Given the description of an element on the screen output the (x, y) to click on. 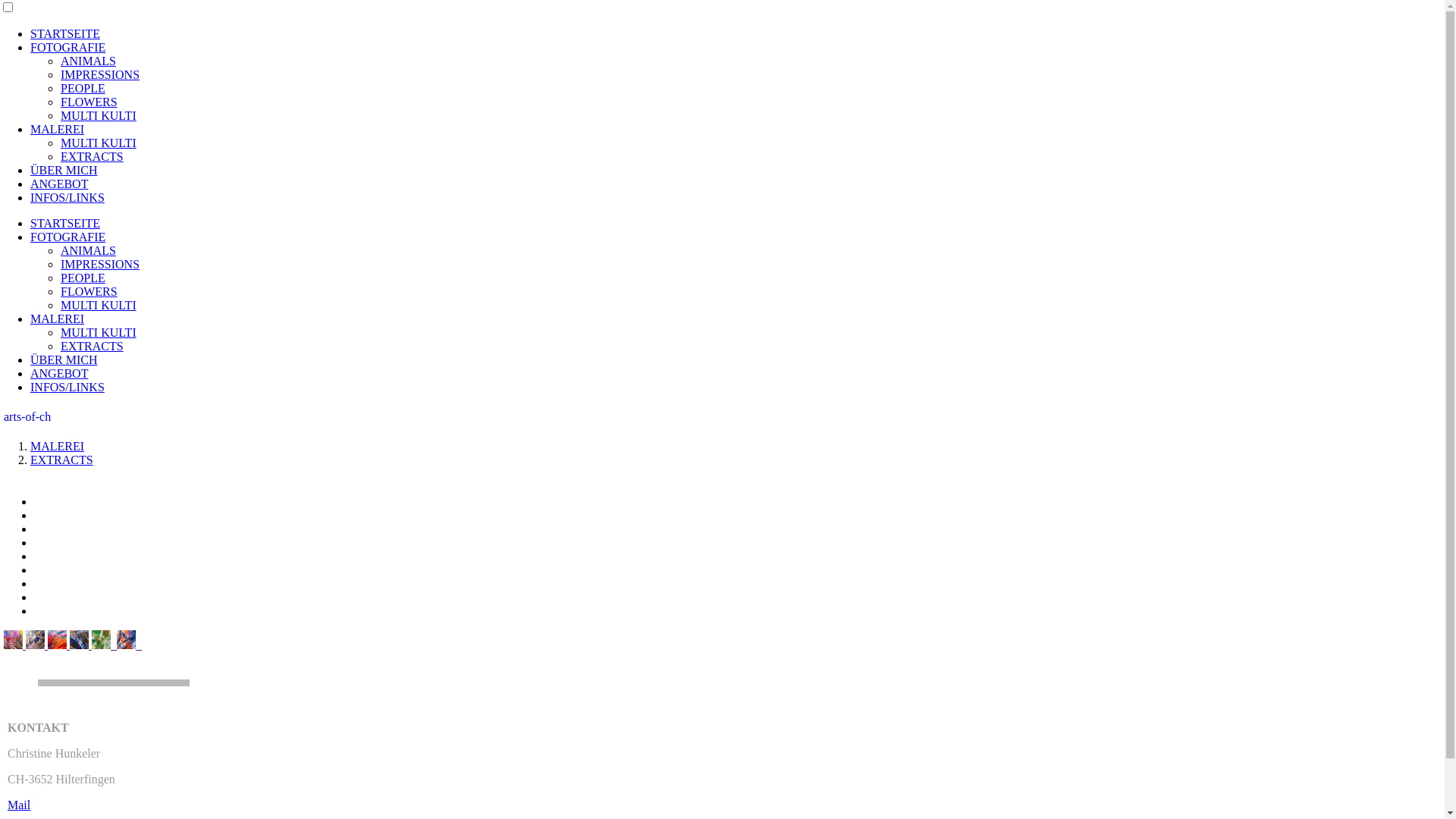
FLOWERS Element type: text (88, 291)
ANGEBOT Element type: text (58, 373)
IMPRESSIONS Element type: text (99, 74)
ANIMALS Element type: text (88, 60)
PEOPLE Element type: text (82, 277)
IMPRESSIONS Element type: text (99, 263)
STARTSEITE Element type: text (65, 222)
MULTI KULTI Element type: text (98, 142)
MALEREI Element type: text (57, 128)
Mail Element type: text (18, 804)
FOTOGRAFIE Element type: text (67, 236)
INFOS/LINKS Element type: text (67, 386)
EXTRACTS Element type: text (91, 156)
MULTI KULTI Element type: text (98, 304)
arts-of-ch Element type: text (26, 416)
EXTRACTS Element type: text (91, 345)
MALEREI Element type: text (57, 445)
ANGEBOT Element type: text (58, 183)
MULTI KULTI Element type: text (98, 332)
INFOS/LINKS Element type: text (67, 197)
EXTRACTS Element type: text (61, 459)
FOTOGRAFIE Element type: text (67, 46)
MULTI KULTI Element type: text (98, 115)
PEOPLE Element type: text (82, 87)
STARTSEITE Element type: text (65, 33)
ANIMALS Element type: text (88, 250)
FLOWERS Element type: text (88, 101)
MALEREI Element type: text (57, 318)
